Given the description of an element on the screen output the (x, y) to click on. 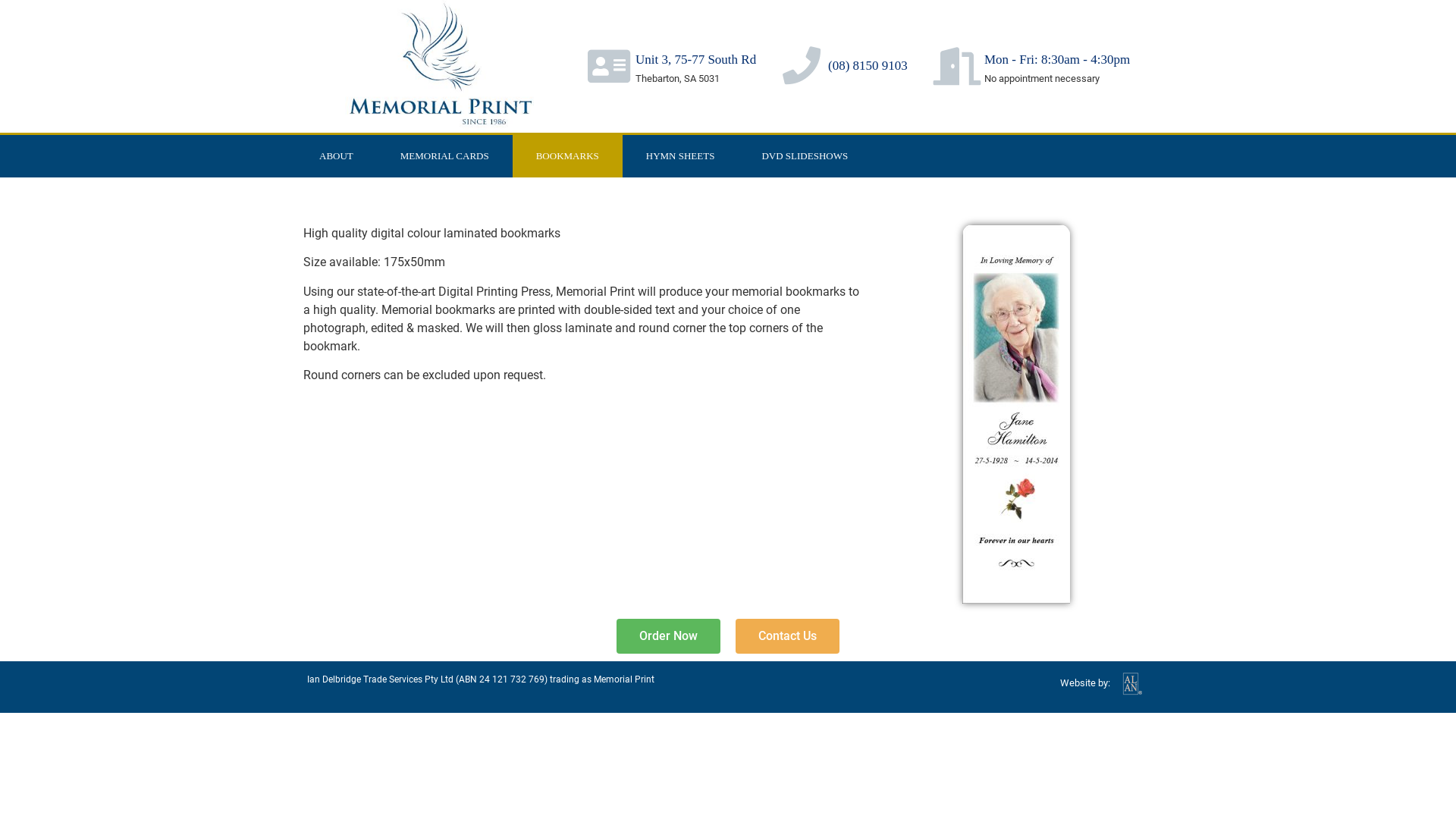
DVD SLIDESHOWS Element type: text (804, 155)
MEMORIAL CARDS Element type: text (444, 155)
BOOKMARKS Element type: text (567, 155)
(08) 8150 9103 Element type: text (867, 65)
ABOUT Element type: text (335, 155)
Order Now Element type: text (668, 635)
Contact Us Element type: text (787, 635)
HYMN SHEETS Element type: text (680, 155)
jane-hamilton-bm Element type: hover (1016, 413)
